Given the description of an element on the screen output the (x, y) to click on. 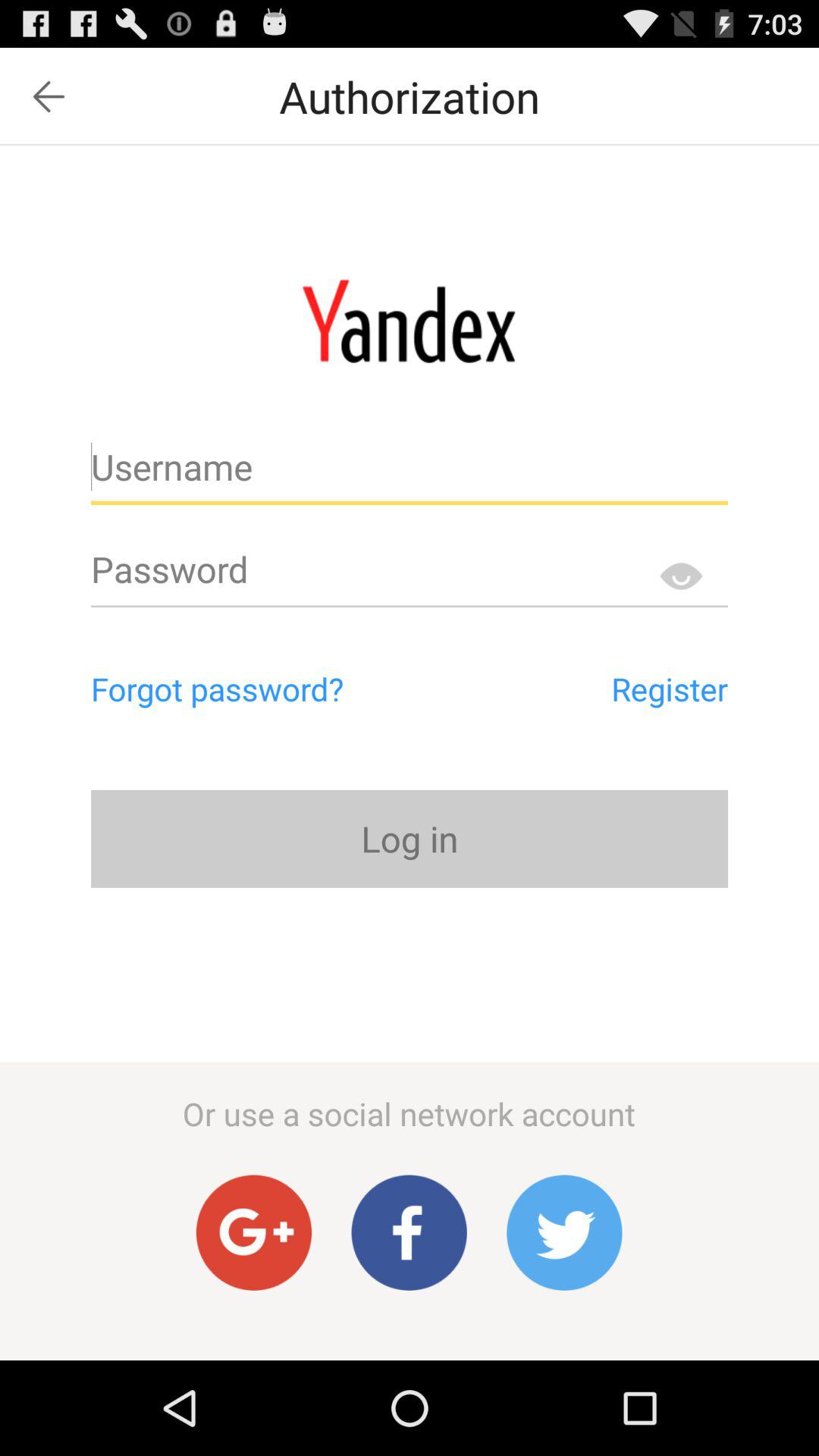
username bar (409, 473)
